Given the description of an element on the screen output the (x, y) to click on. 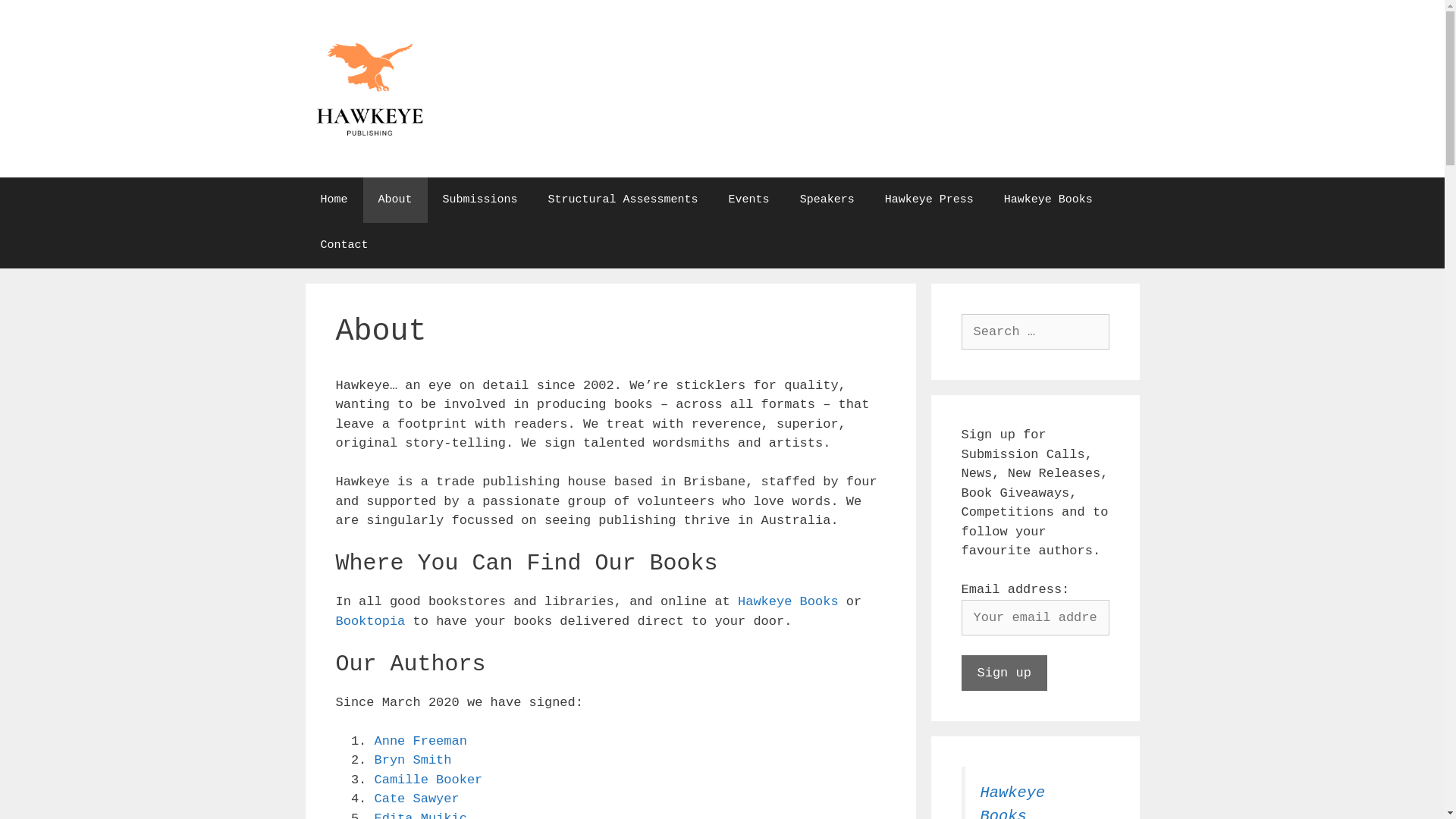
Structural Assessments Element type: text (623, 199)
Hawkeye Publishing Element type: hover (368, 88)
Sign up Element type: text (1004, 673)
Cate Sawyer Element type: text (416, 798)
Hawkeye Publishing Element type: hover (368, 88)
Anne Freeman Element type: text (420, 741)
Bryn Smith Element type: text (412, 760)
Search for: Element type: hover (1035, 331)
Camille Booker Element type: text (428, 779)
Home Element type: text (333, 199)
Speakers Element type: text (826, 199)
Skip to content Element type: text (0, 0)
Contact Element type: text (343, 245)
Hawkeye Books Element type: text (787, 601)
Booktopia Element type: text (369, 621)
Hawkeye Press Element type: text (928, 199)
Events Element type: text (748, 199)
Hawkeye Books Element type: text (1047, 199)
Search Element type: text (39, 18)
Submissions Element type: text (480, 199)
About Element type: text (395, 199)
